Given the description of an element on the screen output the (x, y) to click on. 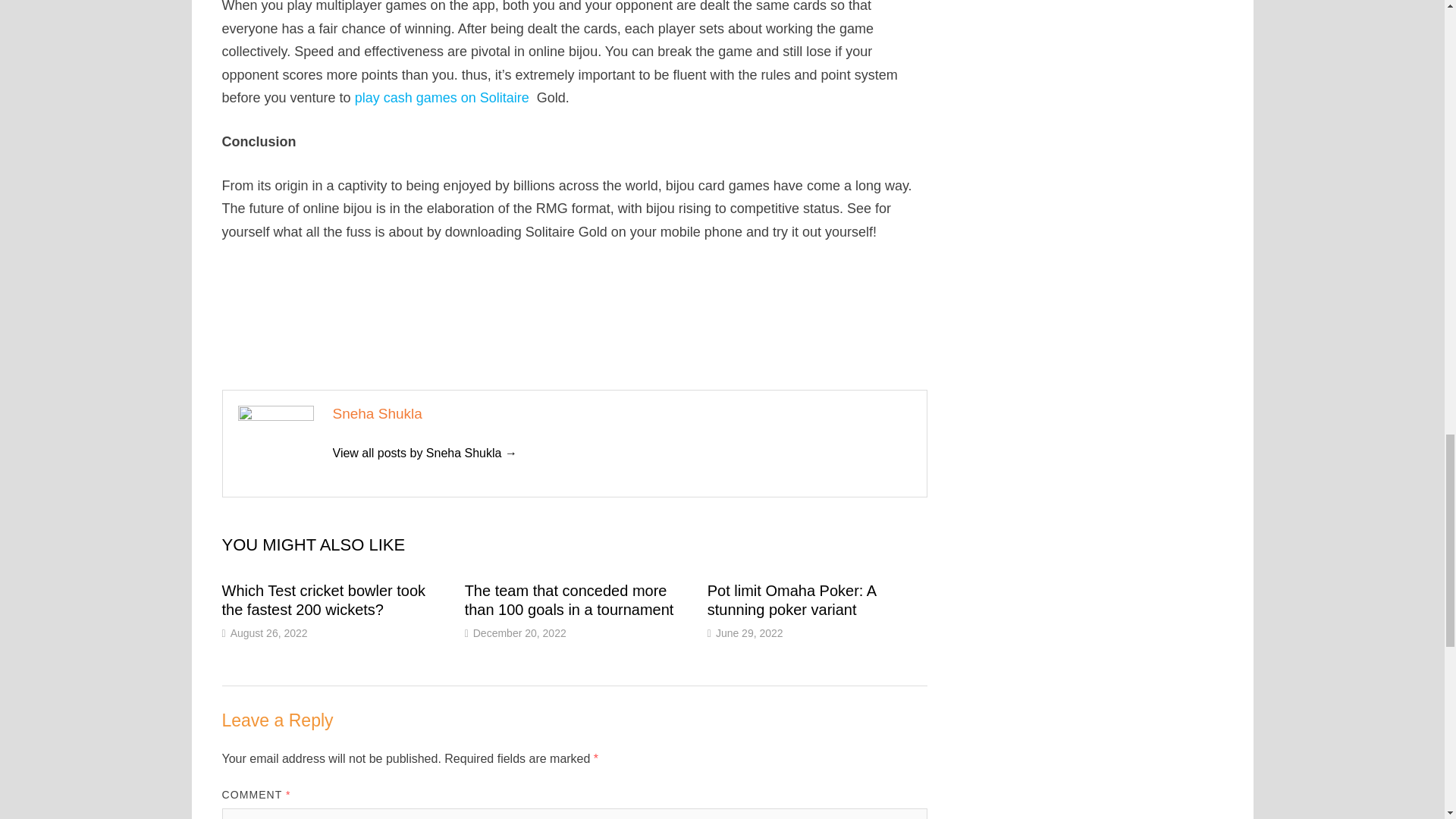
The team that conceded more than 100 goals in a tournament (569, 600)
Sneha Shukla (423, 452)
Which Test cricket bowler took the fastest 200 wickets? (323, 600)
Pot limit Omaha Poker: A stunning poker variant (791, 600)
August 26, 2022 (268, 633)
play cash games on Solitaire (442, 97)
Which Test cricket bowler took the fastest 200 wickets? (323, 600)
The team that conceded more than 100 goals in a tournament (569, 600)
